Given the description of an element on the screen output the (x, y) to click on. 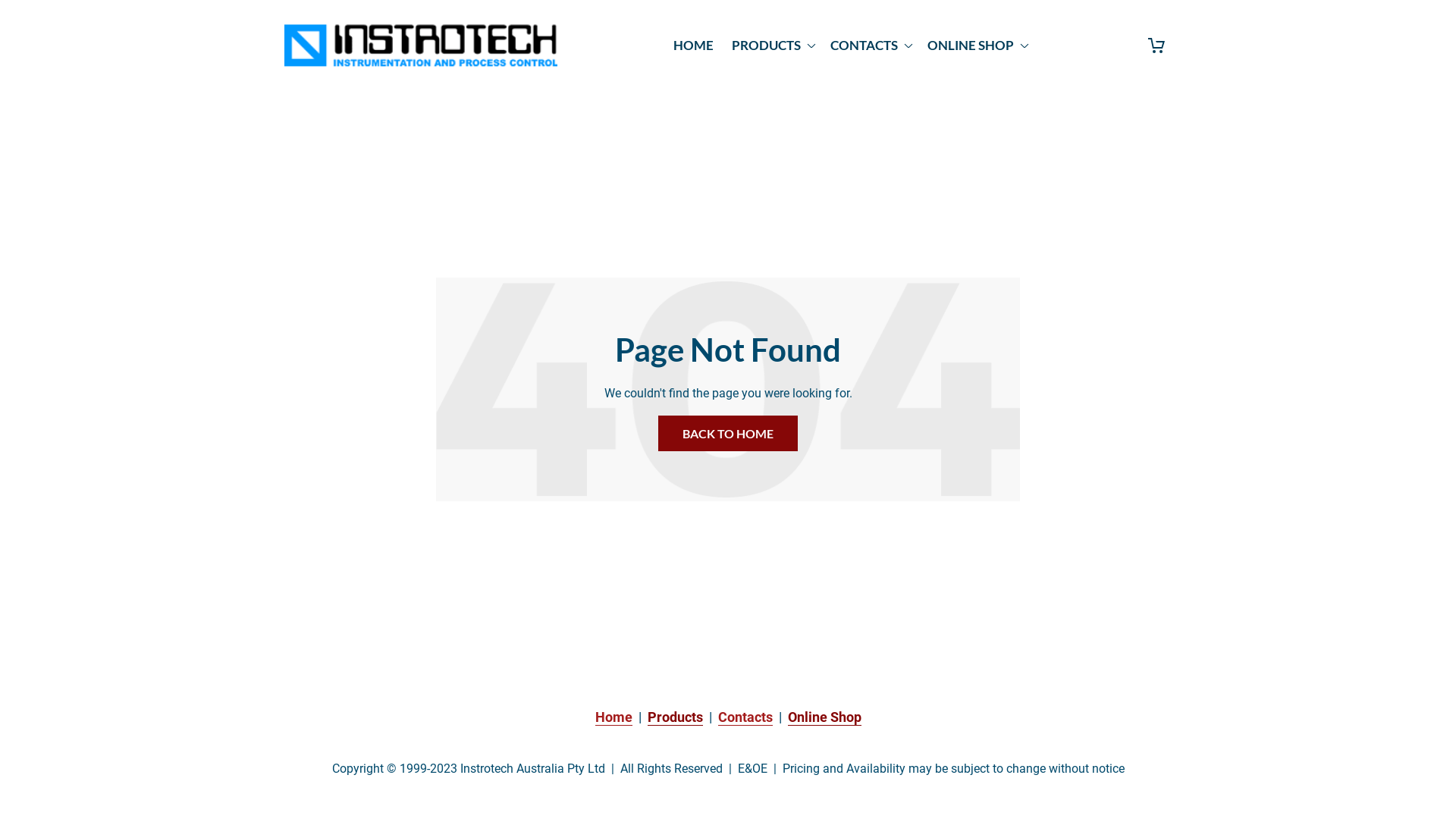
Home Element type: text (612, 717)
CONTACTS Element type: text (869, 45)
HOME Element type: text (693, 45)
Online Shop Element type: text (823, 717)
BACK TO HOME Element type: text (727, 433)
Products Element type: text (674, 717)
Contacts Element type: text (744, 717)
PRODUCTS Element type: text (771, 45)
ONLINE SHOP Element type: text (976, 45)
